Given the description of an element on the screen output the (x, y) to click on. 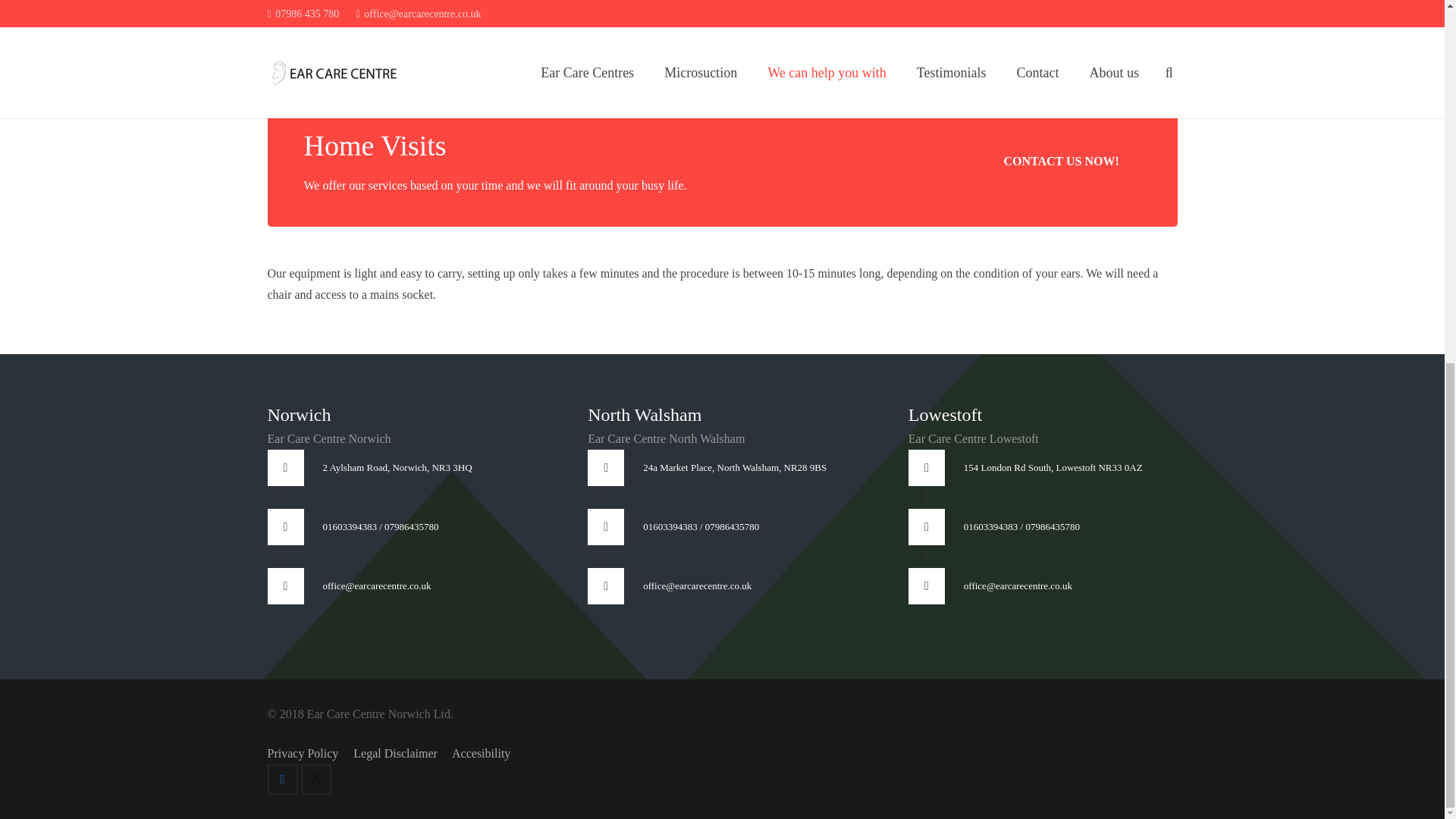
Back to top (1413, 198)
CONTACT US NOW! (1061, 161)
Facebook (281, 779)
Twitter (314, 779)
Privacy Policy (301, 753)
Legal Disclaimer  (397, 753)
Accesibility (481, 753)
